Given the description of an element on the screen output the (x, y) to click on. 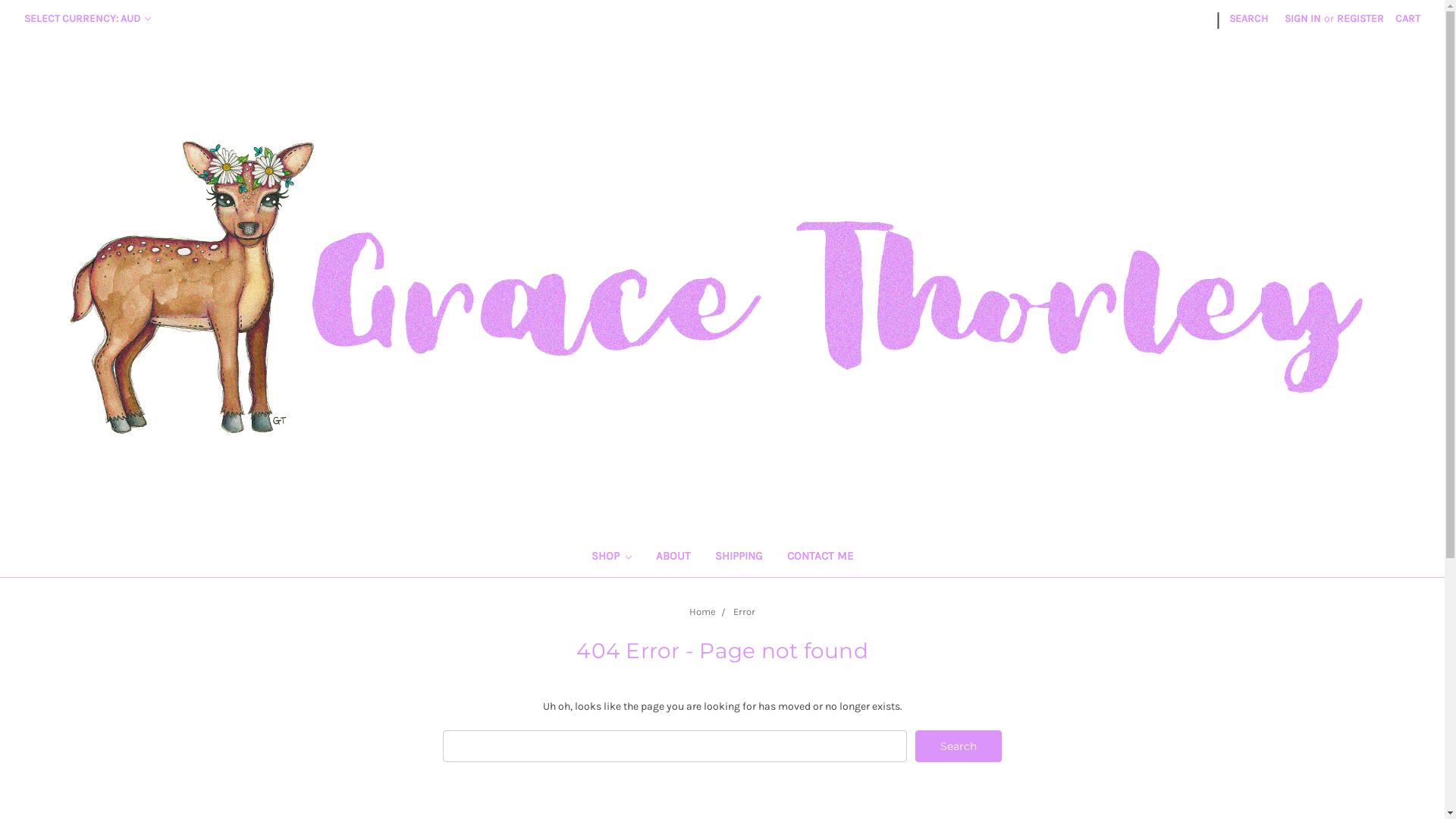
Search Element type: text (958, 746)
CONTACT ME Element type: text (820, 557)
Home Element type: text (702, 611)
Grace Thorley Element type: hover (722, 285)
ABOUT Element type: text (672, 557)
CART Element type: text (1407, 18)
SEARCH Element type: text (1248, 18)
SIGN IN Element type: text (1302, 18)
Error Element type: text (744, 611)
SHIPPING Element type: text (738, 557)
SHOP Element type: text (611, 557)
SELECT CURRENCY: AUD Element type: text (87, 18)
REGISTER Element type: text (1360, 18)
